Given the description of an element on the screen output the (x, y) to click on. 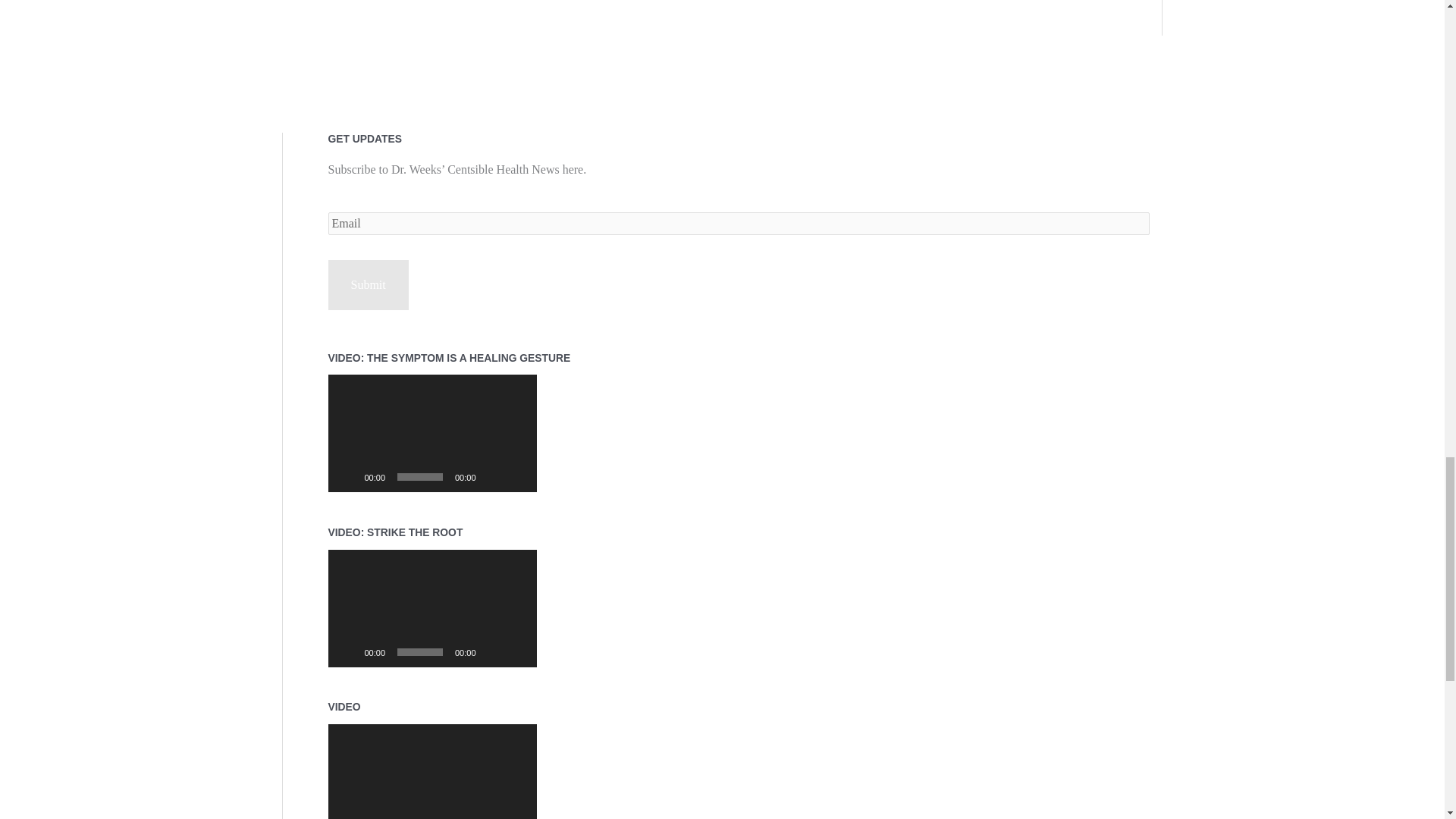
Play (347, 652)
Mute (492, 652)
Mute (492, 476)
Fullscreen (516, 652)
Fullscreen (516, 476)
Email (737, 223)
Submit (367, 285)
Play (347, 476)
